Given the description of an element on the screen output the (x, y) to click on. 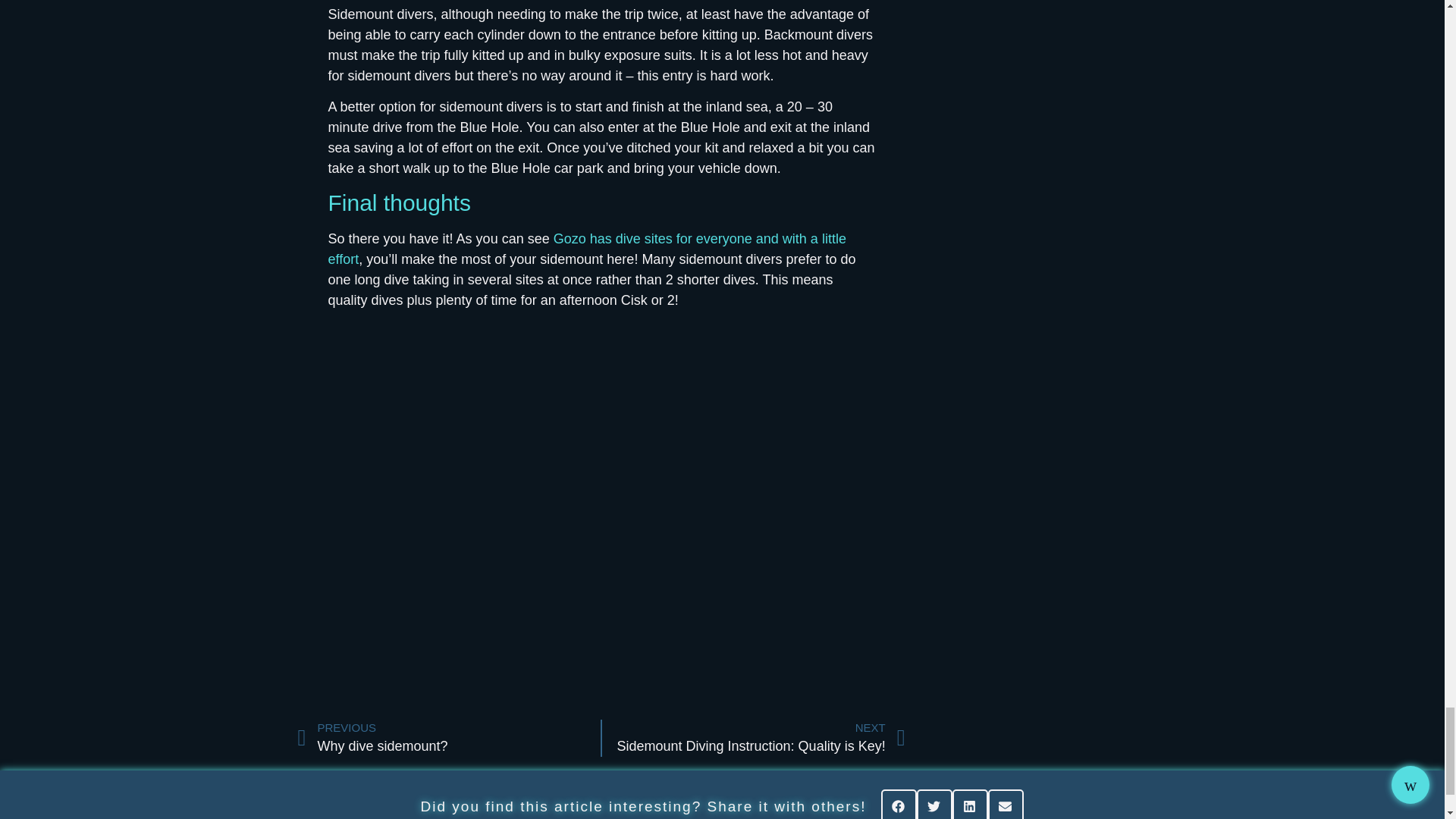
Gozo has dive sites for everyone and with a little effort (753, 738)
